Given the description of an element on the screen output the (x, y) to click on. 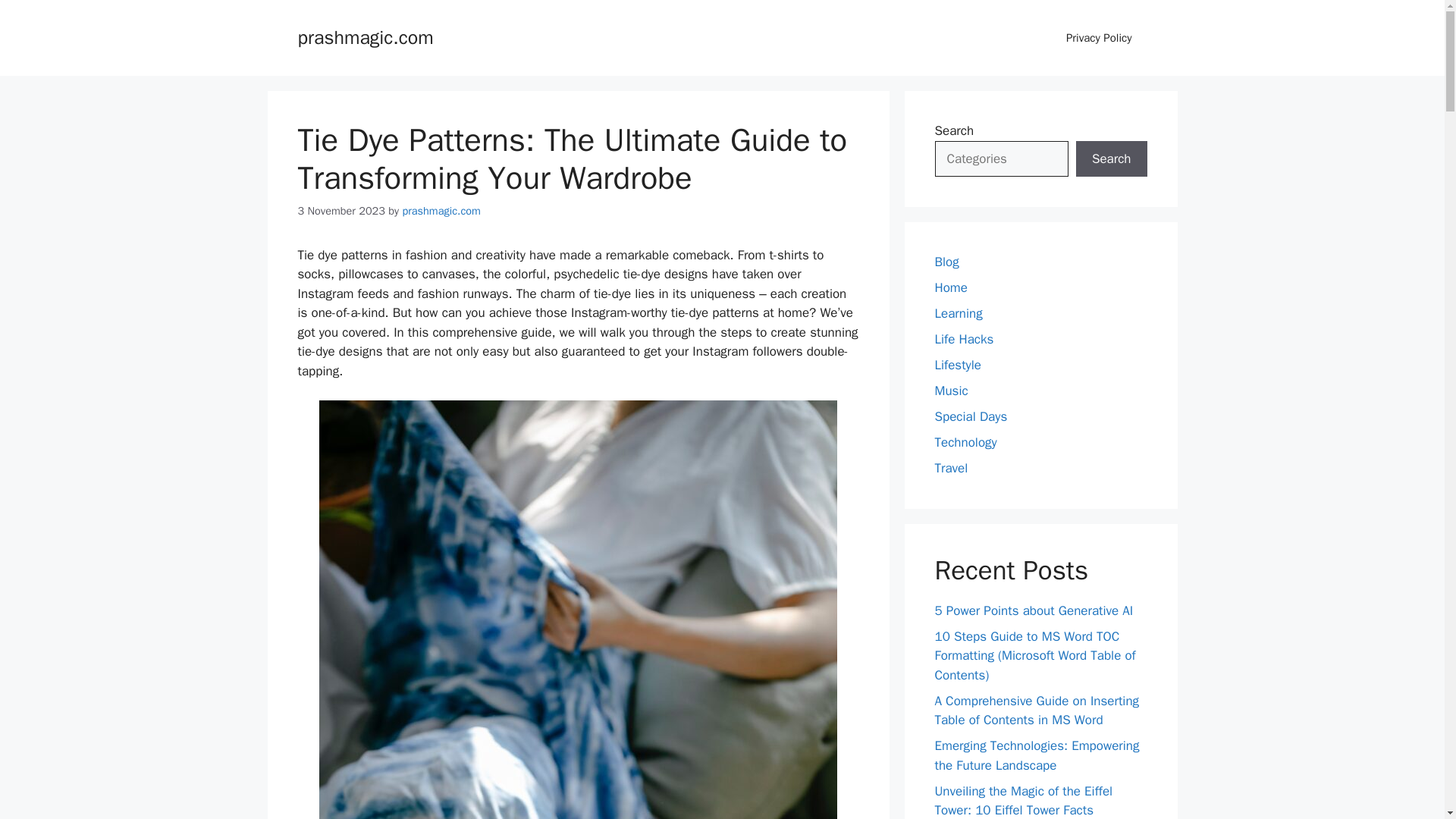
prashmagic.com (364, 37)
Blog (946, 261)
Home (950, 287)
Privacy Policy (1099, 37)
prashmagic.com (440, 210)
View all posts by prashmagic.com (440, 210)
Search (1111, 158)
